Given the description of an element on the screen output the (x, y) to click on. 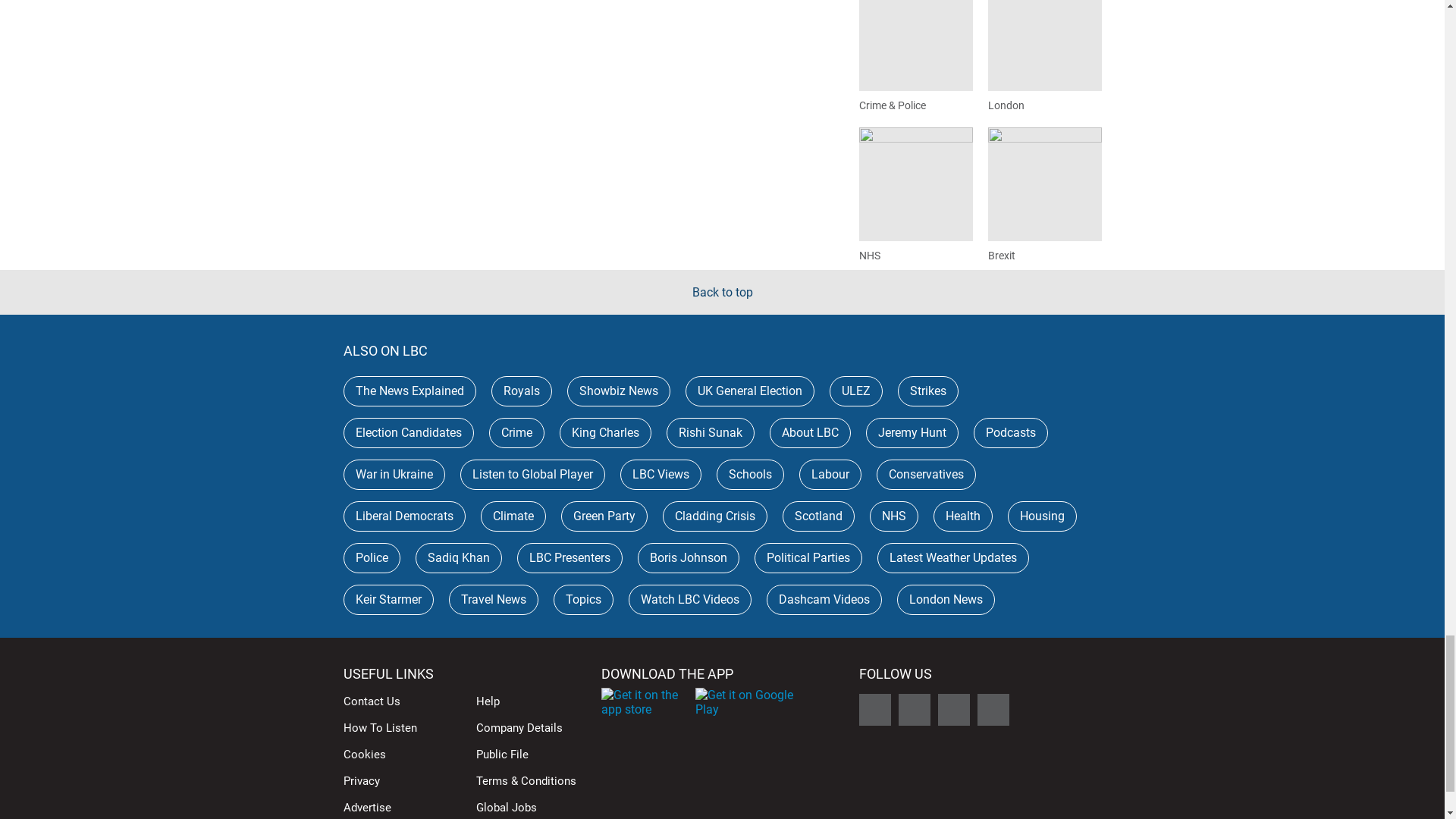
Follow LBC on Youtube (992, 709)
Follow LBC on X (874, 709)
Follow LBC on Facebook (914, 709)
Follow LBC on Instagram (953, 709)
Back to top (721, 292)
